Given the description of an element on the screen output the (x, y) to click on. 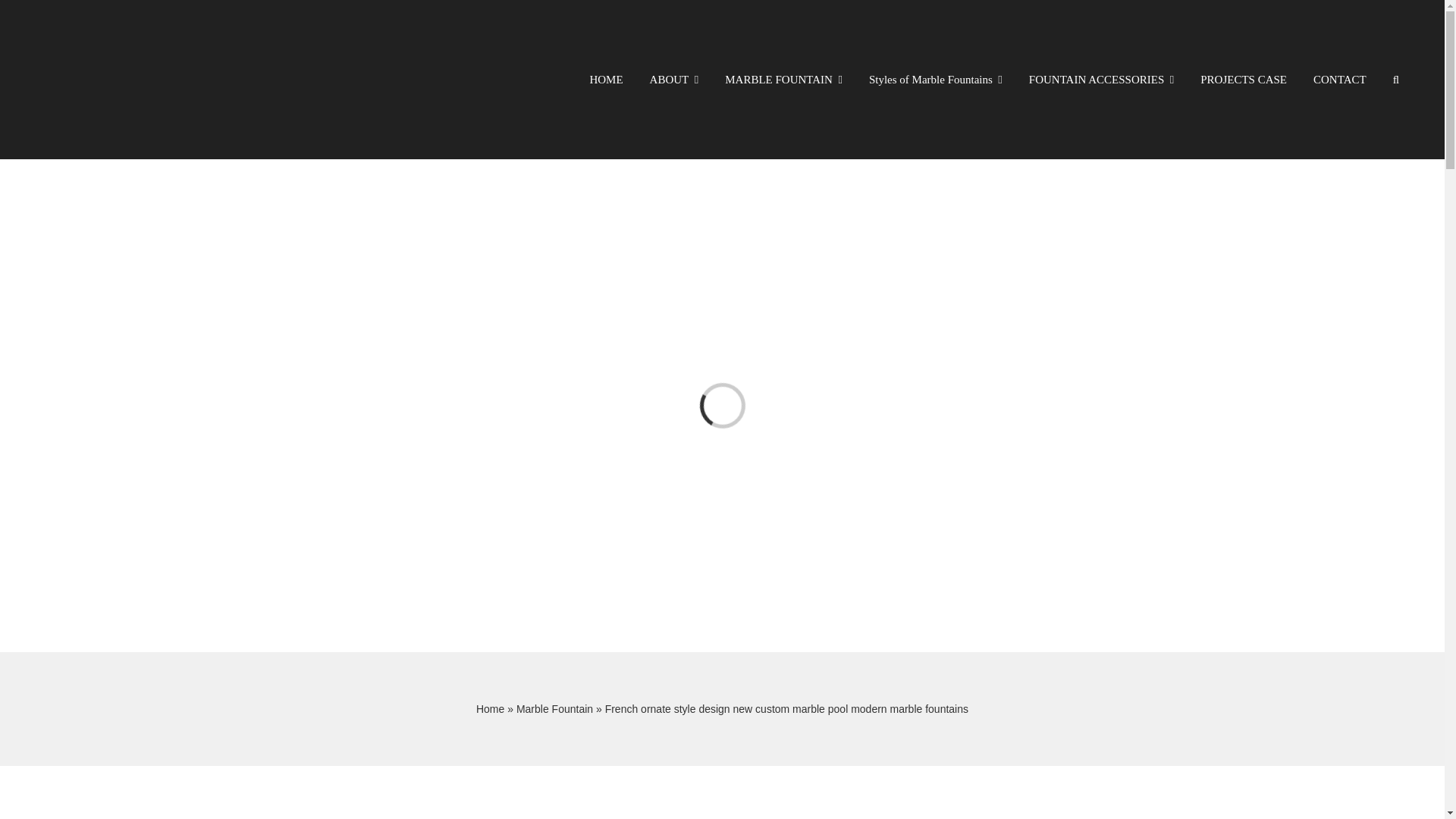
MARBLE FOUNTAIN (784, 79)
ABOUT (673, 79)
